Given the description of an element on the screen output the (x, y) to click on. 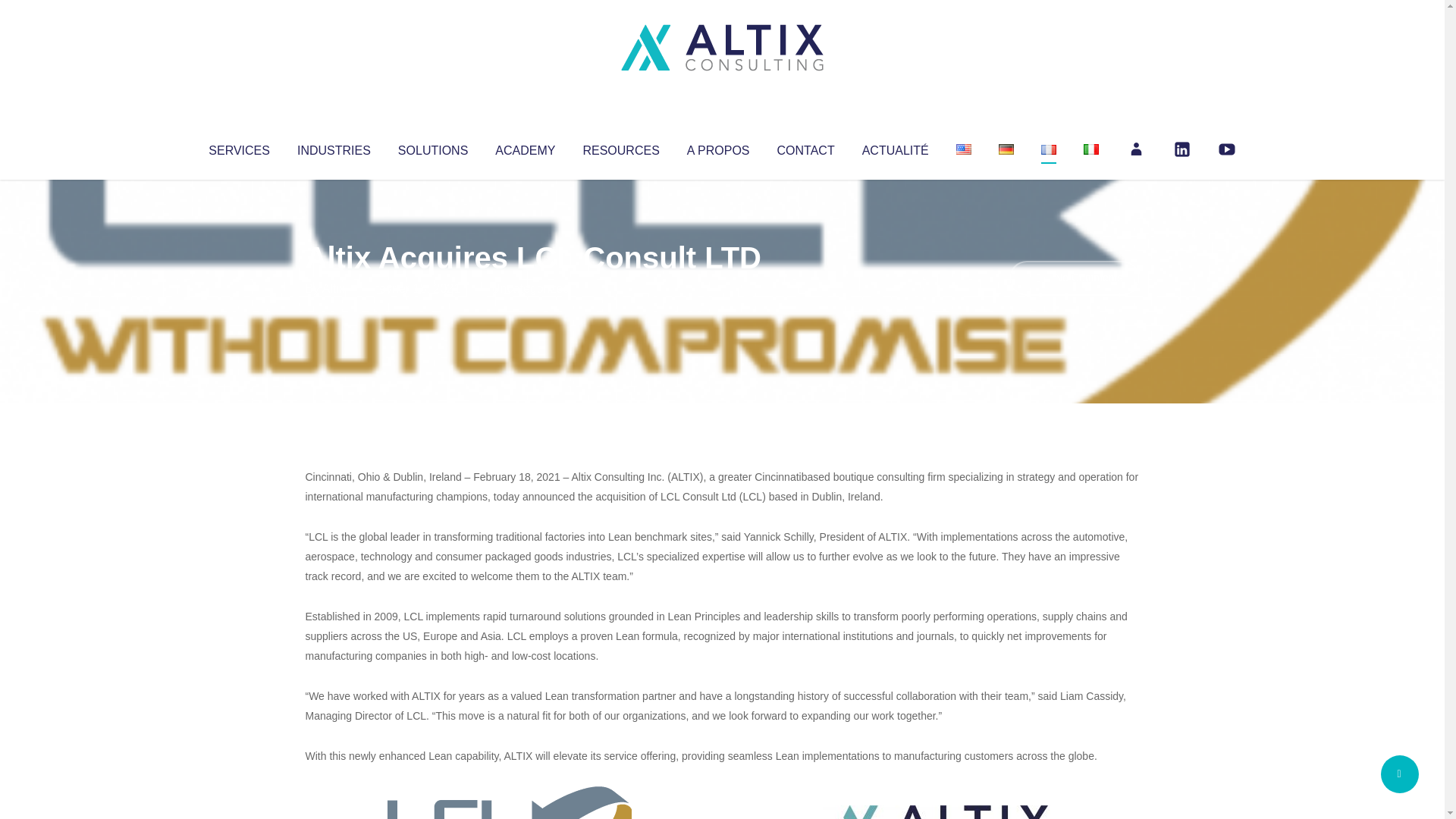
Articles par Altix (333, 287)
SERVICES (238, 146)
Altix (333, 287)
No Comments (1073, 278)
A PROPOS (718, 146)
ACADEMY (524, 146)
INDUSTRIES (334, 146)
RESOURCES (620, 146)
Uncategorized (530, 287)
SOLUTIONS (432, 146)
